Given the description of an element on the screen output the (x, y) to click on. 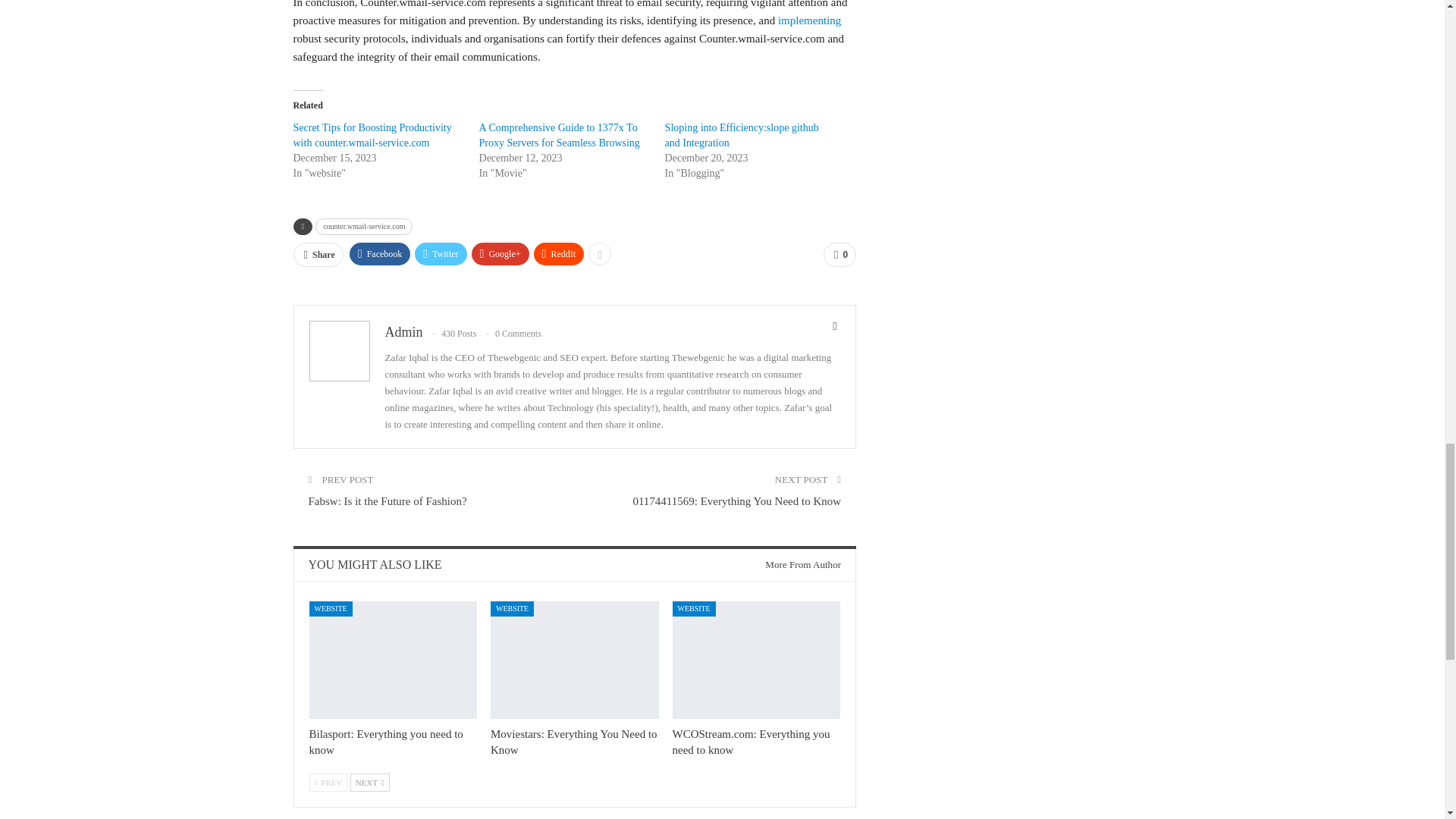
Bilasport: Everything you need to know (385, 741)
Bilasport: Everything you need to know (392, 660)
Sloping into Efficiency:slope github and Integration (741, 135)
implementing (809, 20)
